Given the description of an element on the screen output the (x, y) to click on. 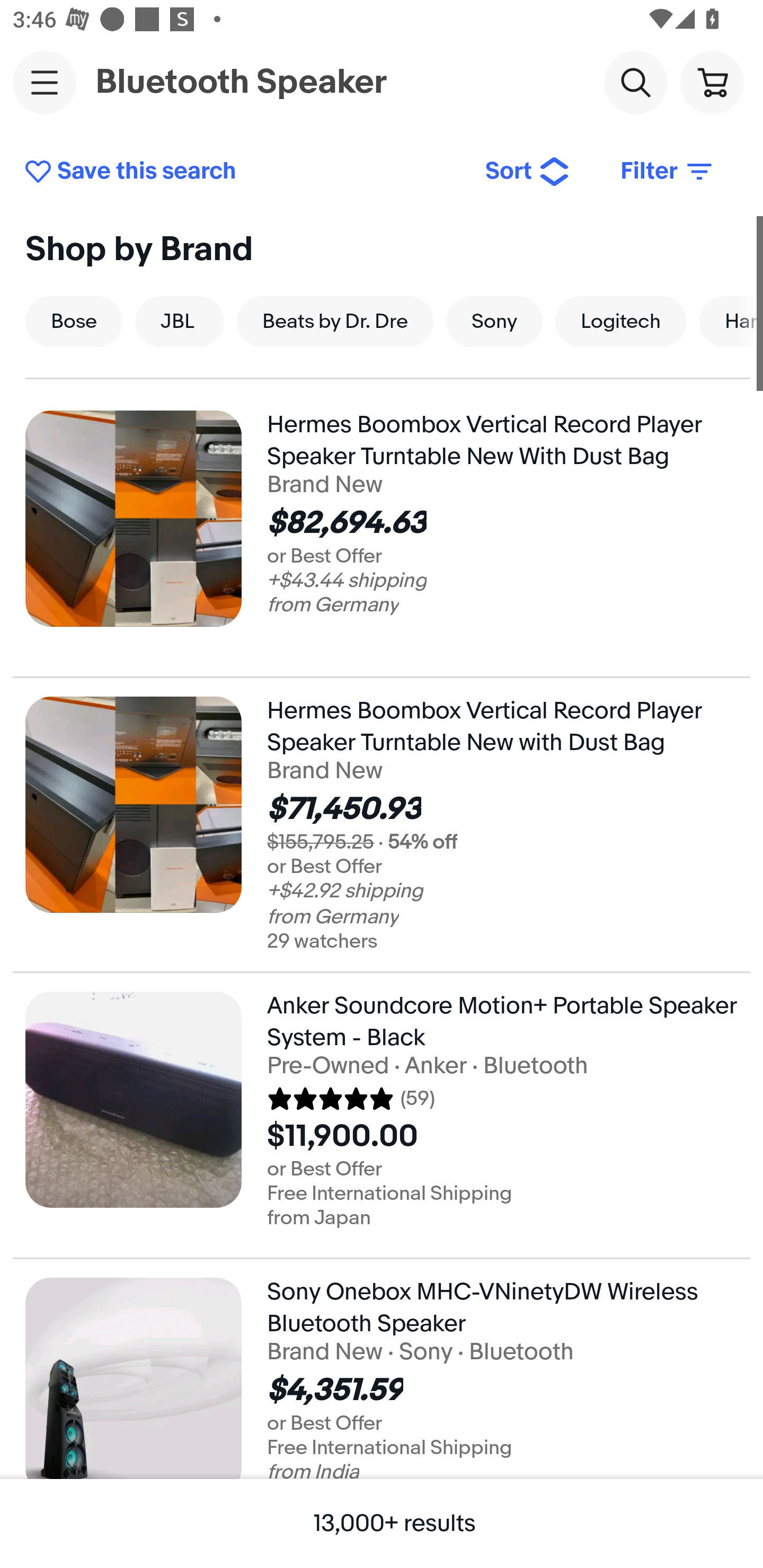
Main navigation, open (44, 82)
Search (635, 81)
Cart button shopping cart (711, 81)
Save this search (241, 171)
Sort (527, 171)
Filter (667, 171)
Bose Bose, Brand (73, 321)
JBL JBL, Brand (179, 321)
Beats by Dr. Dre Beats by Dr. Dre, Brand (334, 321)
Sony Sony, Brand (494, 321)
Logitech Logitech, Brand (620, 321)
Harman Kardon Harman Kardon, Brand (731, 321)
